Given the description of an element on the screen output the (x, y) to click on. 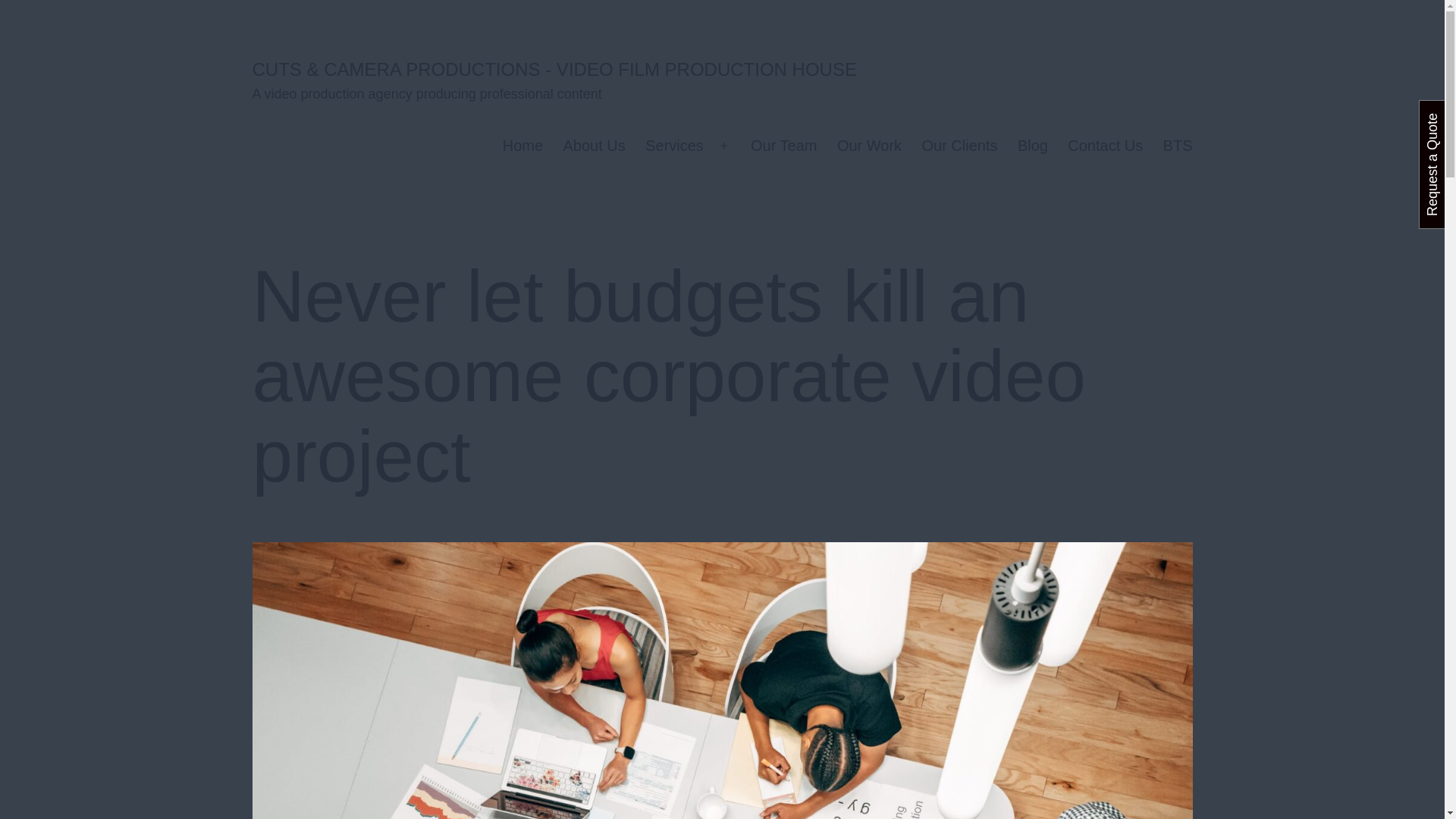
Home (523, 145)
Our Work (869, 145)
Services (673, 145)
BTS (1177, 145)
Our Clients (959, 145)
Our Team (784, 145)
About Us (593, 145)
Blog (1032, 145)
Contact Us (1105, 145)
